Given the description of an element on the screen output the (x, y) to click on. 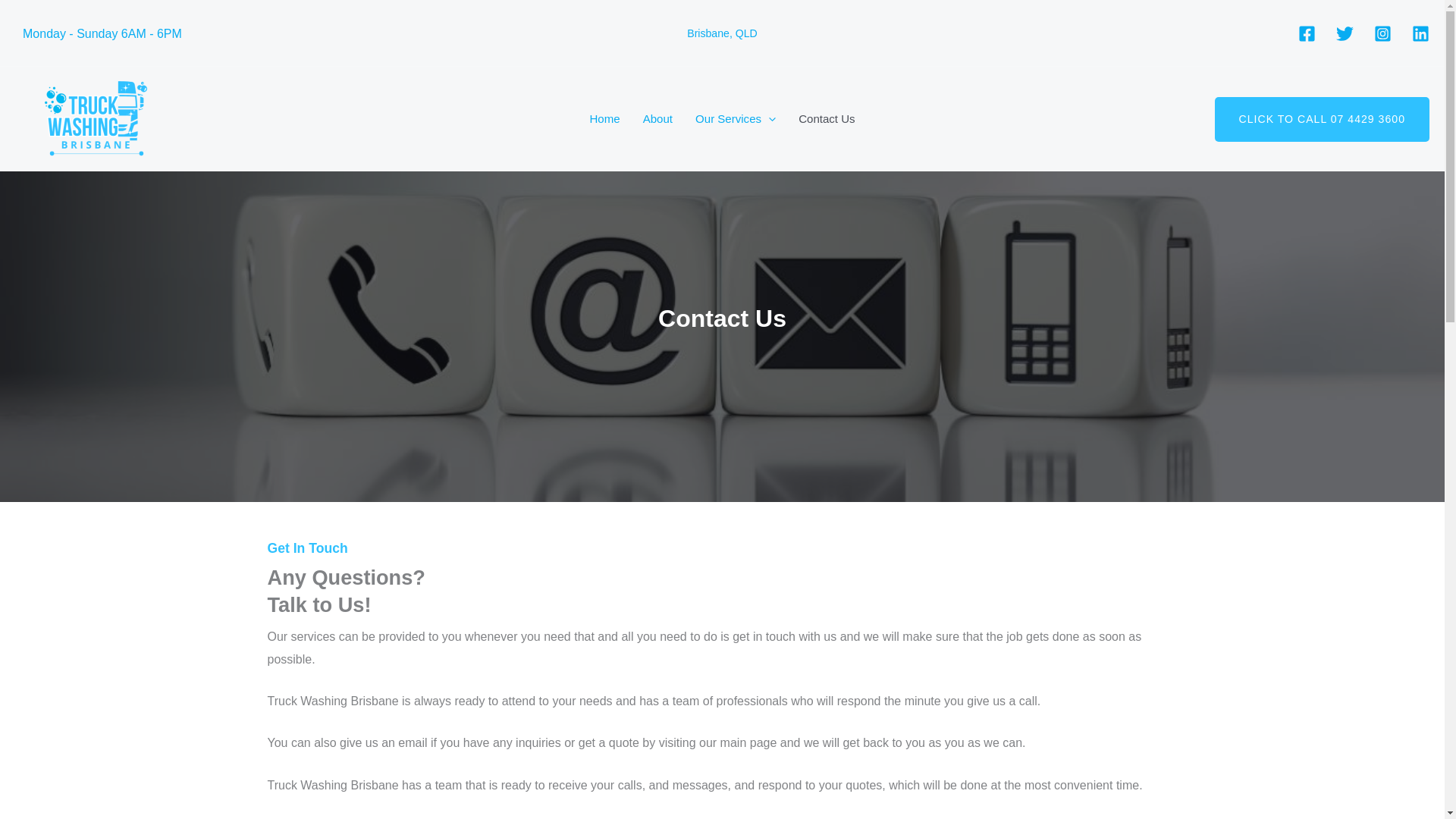
About (657, 118)
CLICK TO CALL 07 4429 3600 (1321, 118)
Home (604, 118)
Our Services (735, 118)
Contact Us (826, 118)
